Given the description of an element on the screen output the (x, y) to click on. 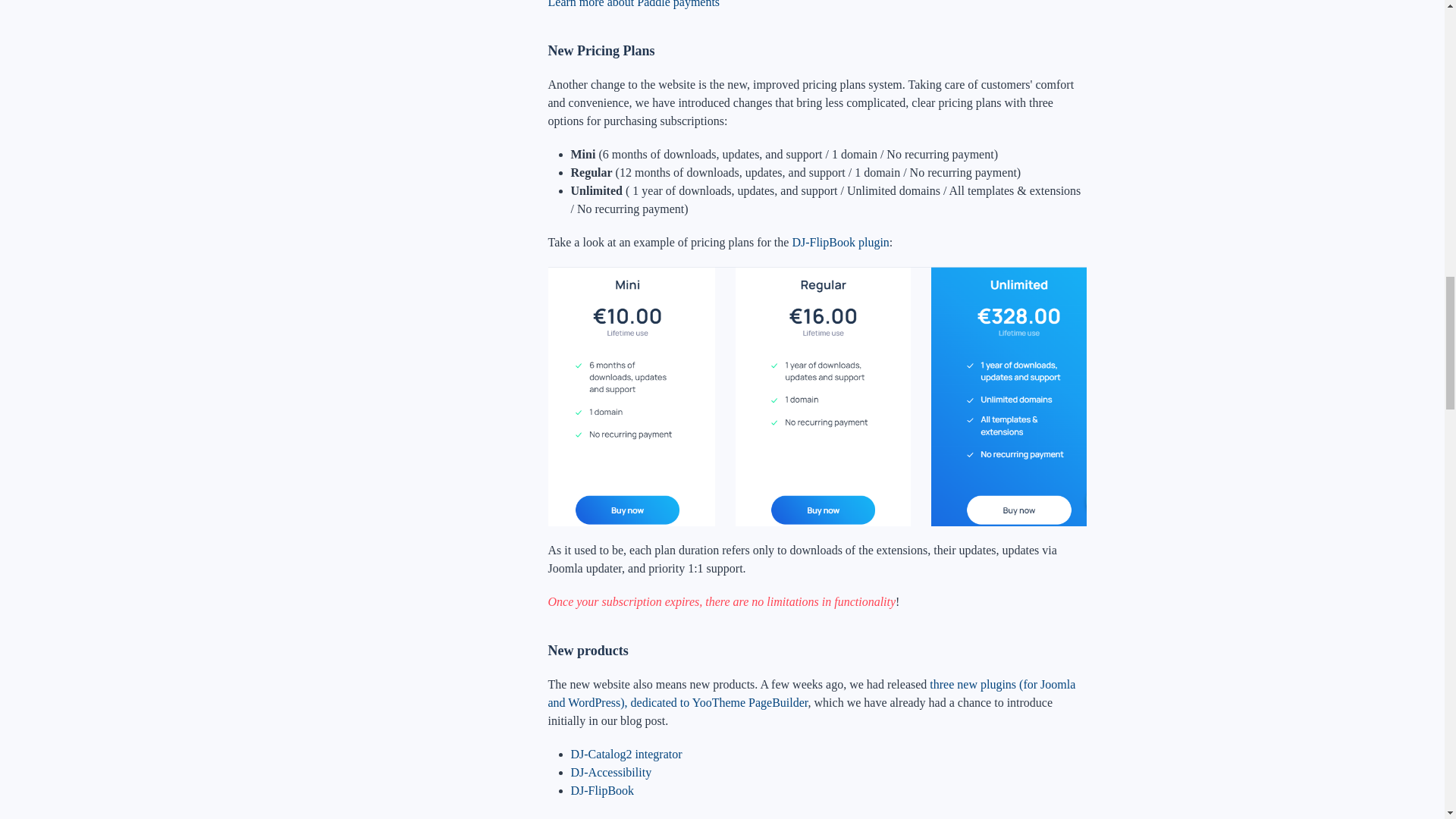
DJ-Catalog2 integrator plugin (625, 753)
DJ-FlipBook plugin (601, 789)
Three new plugins (811, 693)
DJ-Accessibility plugin (610, 771)
DJ-FlipBook plugin (840, 241)
